Given the description of an element on the screen output the (x, y) to click on. 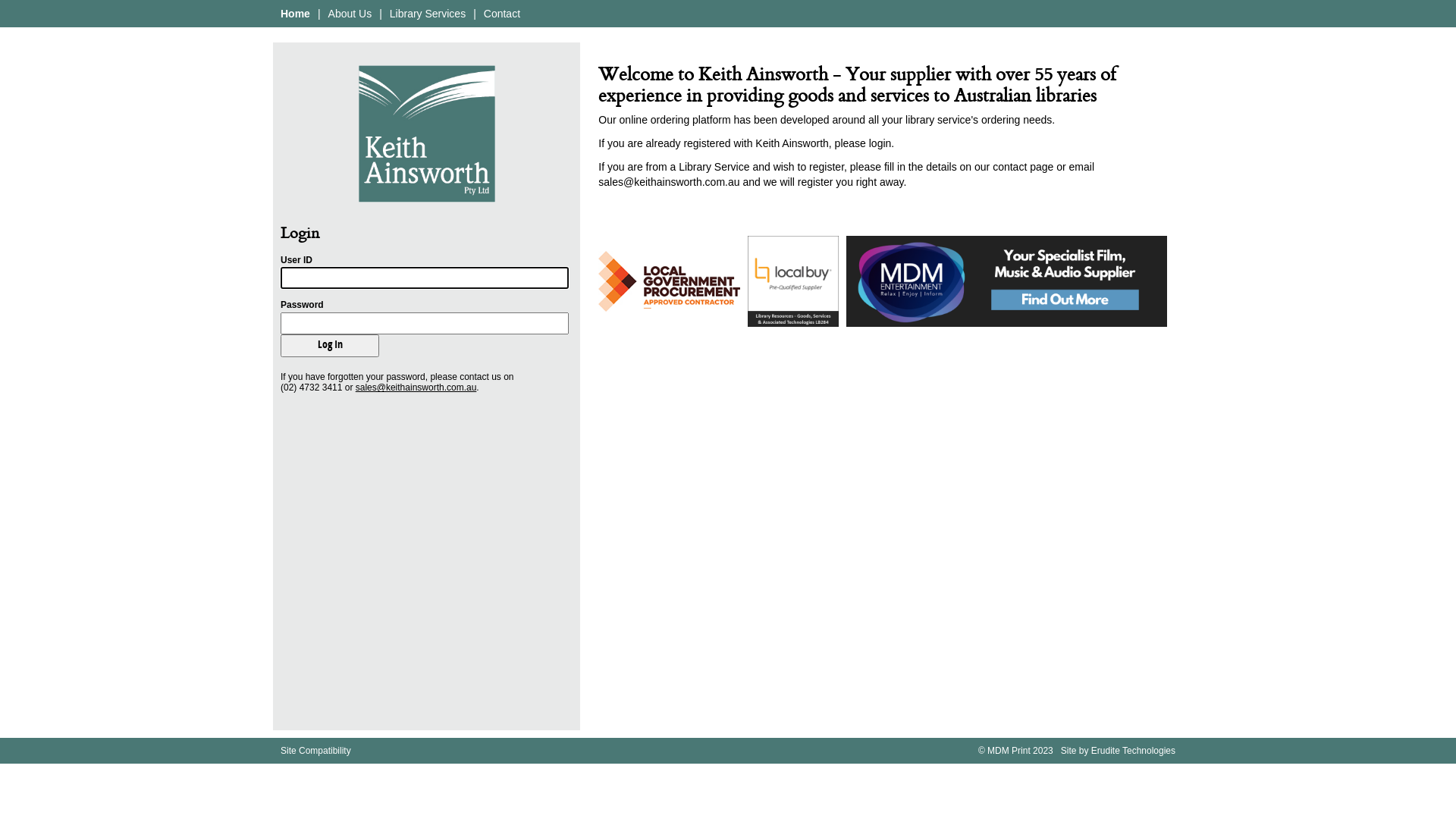
Library Services Element type: text (427, 13)
Erudite Technologies Element type: text (1133, 750)
About Us Element type: text (350, 13)
Log In Element type: text (329, 345)
Contact Element type: text (501, 13)
| Element type: text (318, 13)
MDM Print Homepage Element type: hover (426, 133)
sales@keithainsworth.com.au Element type: text (415, 387)
Home Element type: text (295, 13)
MDM Print Element type: text (1008, 750)
| Element type: text (474, 13)
Site Compatibility Element type: text (315, 750)
| Element type: text (380, 13)
